Given the description of an element on the screen output the (x, y) to click on. 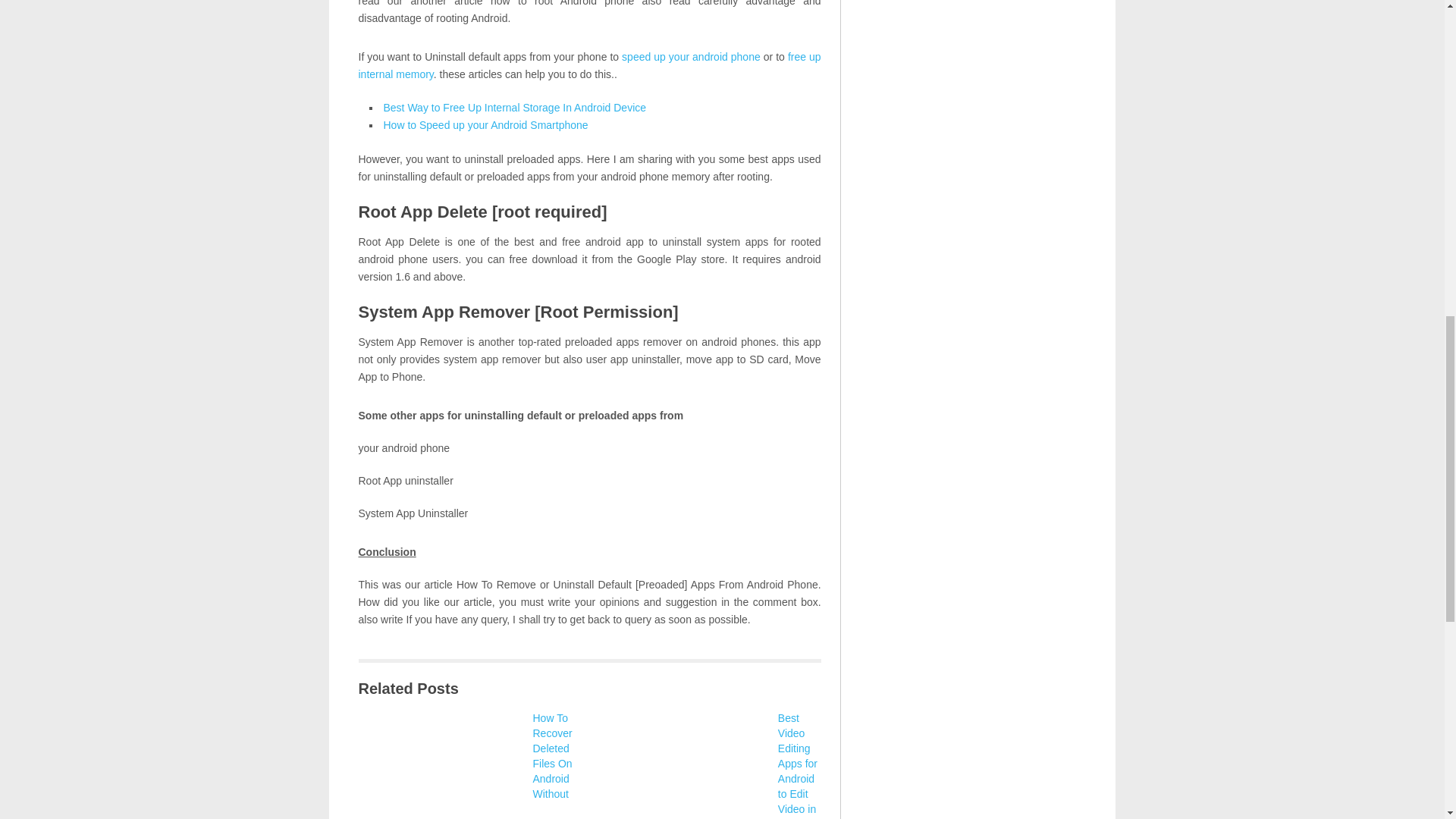
speed up your android phone (690, 56)
free up internal memory (589, 65)
3 (687, 764)
2 (441, 764)
How to Speed up your Android Smartphone (486, 124)
Best Way to Free Up Internal Storage In Android Device (515, 107)
